Given the description of an element on the screen output the (x, y) to click on. 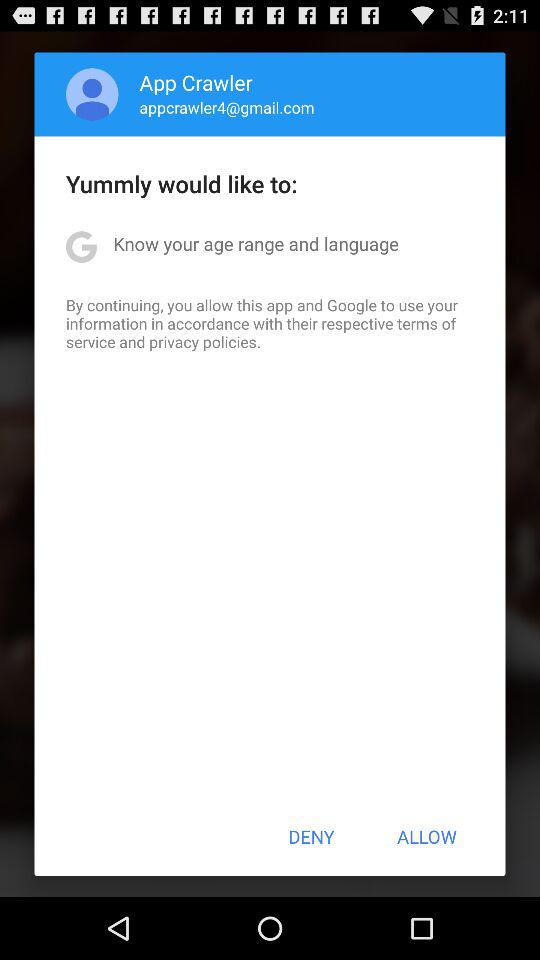
jump to the know your age item (255, 243)
